Given the description of an element on the screen output the (x, y) to click on. 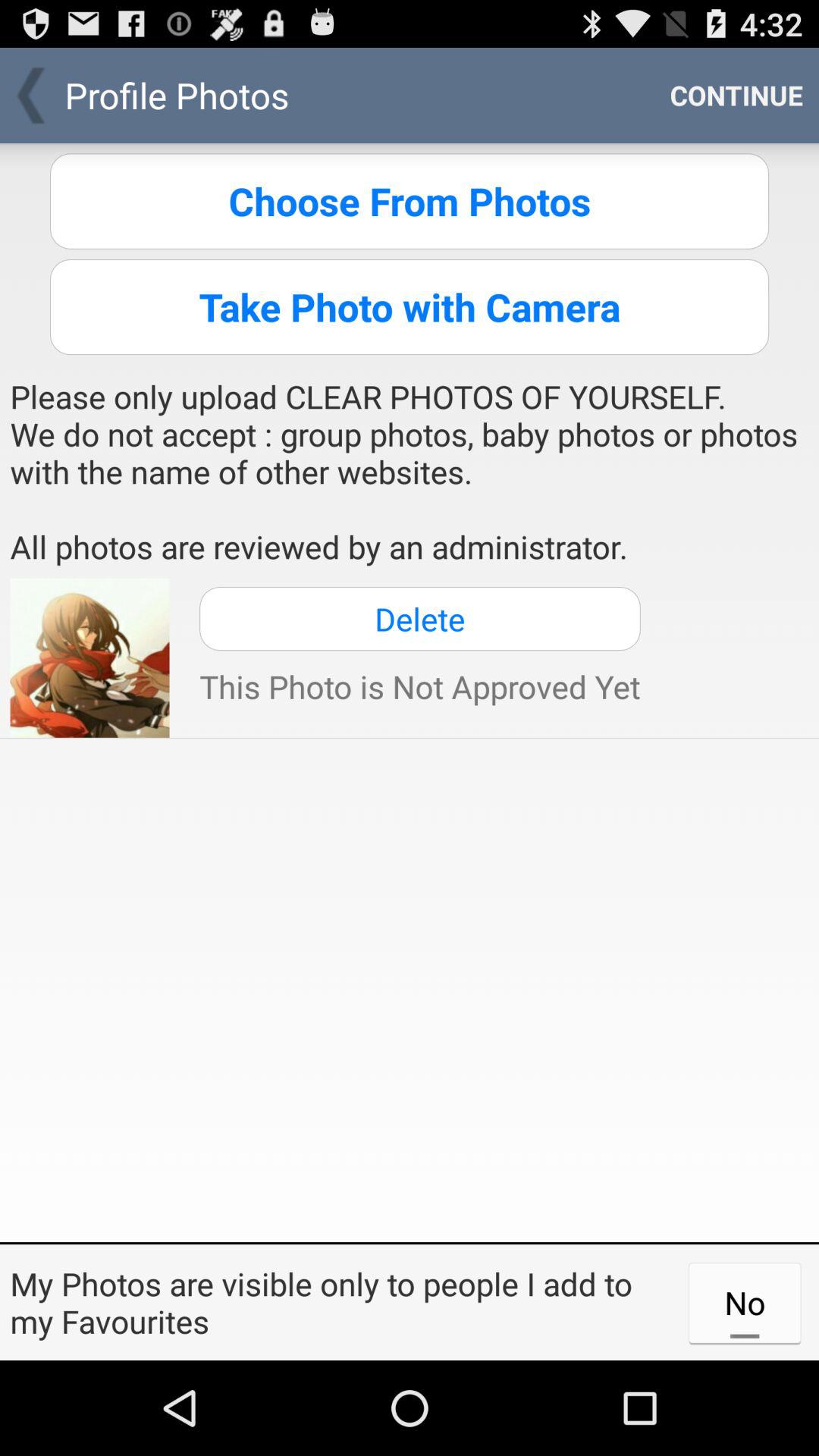
swipe until the continue icon (736, 95)
